Given the description of an element on the screen output the (x, y) to click on. 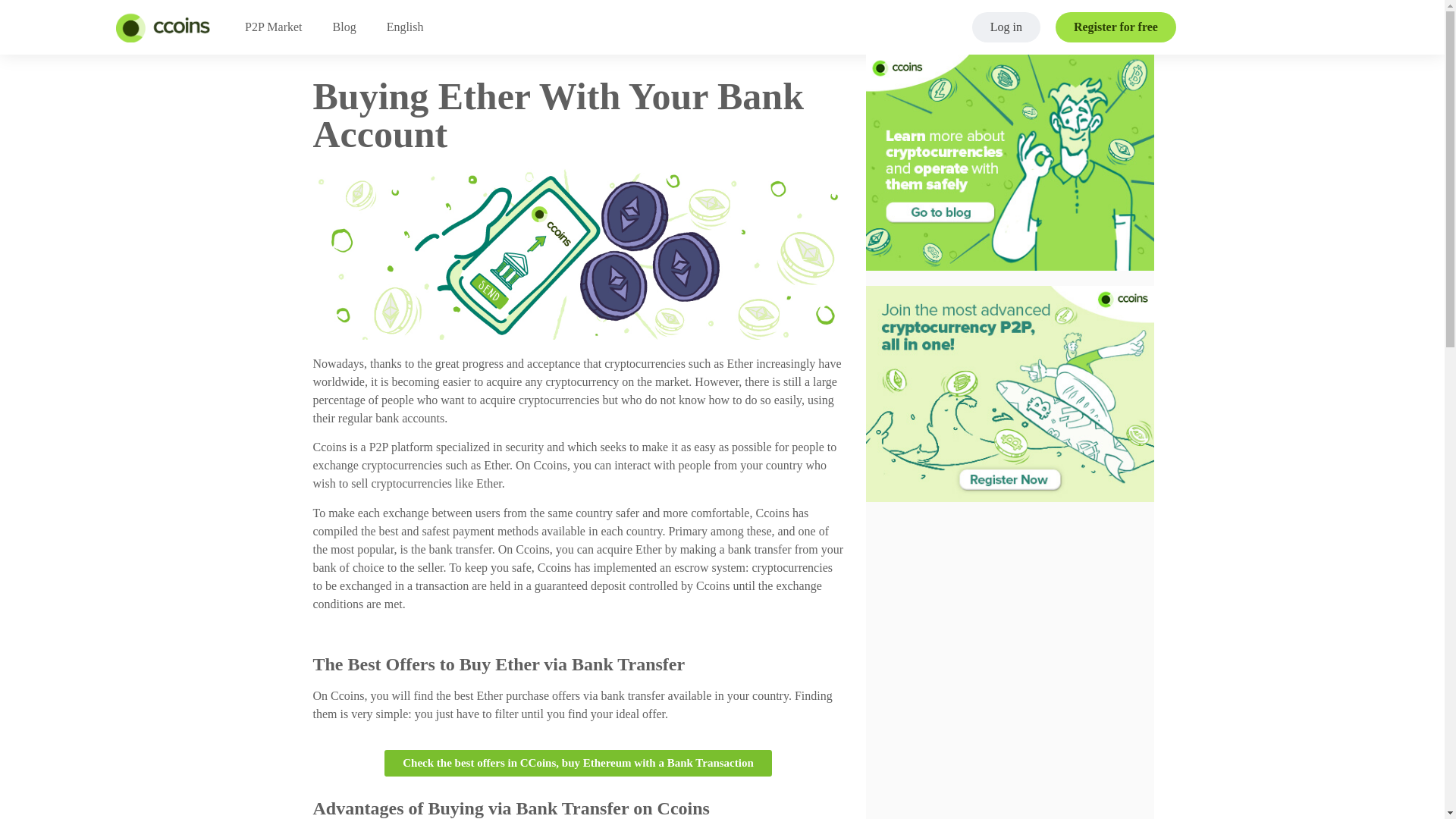
P2P Market (273, 27)
Register for free (1115, 27)
Buying Ether With Your Bank Account 3 (1010, 393)
English (405, 27)
Buying Ether With Your Bank Account 1 (578, 253)
Log in (1006, 27)
Buying Ether With Your Bank Account 2 (1010, 162)
Blog (344, 27)
